Given the description of an element on the screen output the (x, y) to click on. 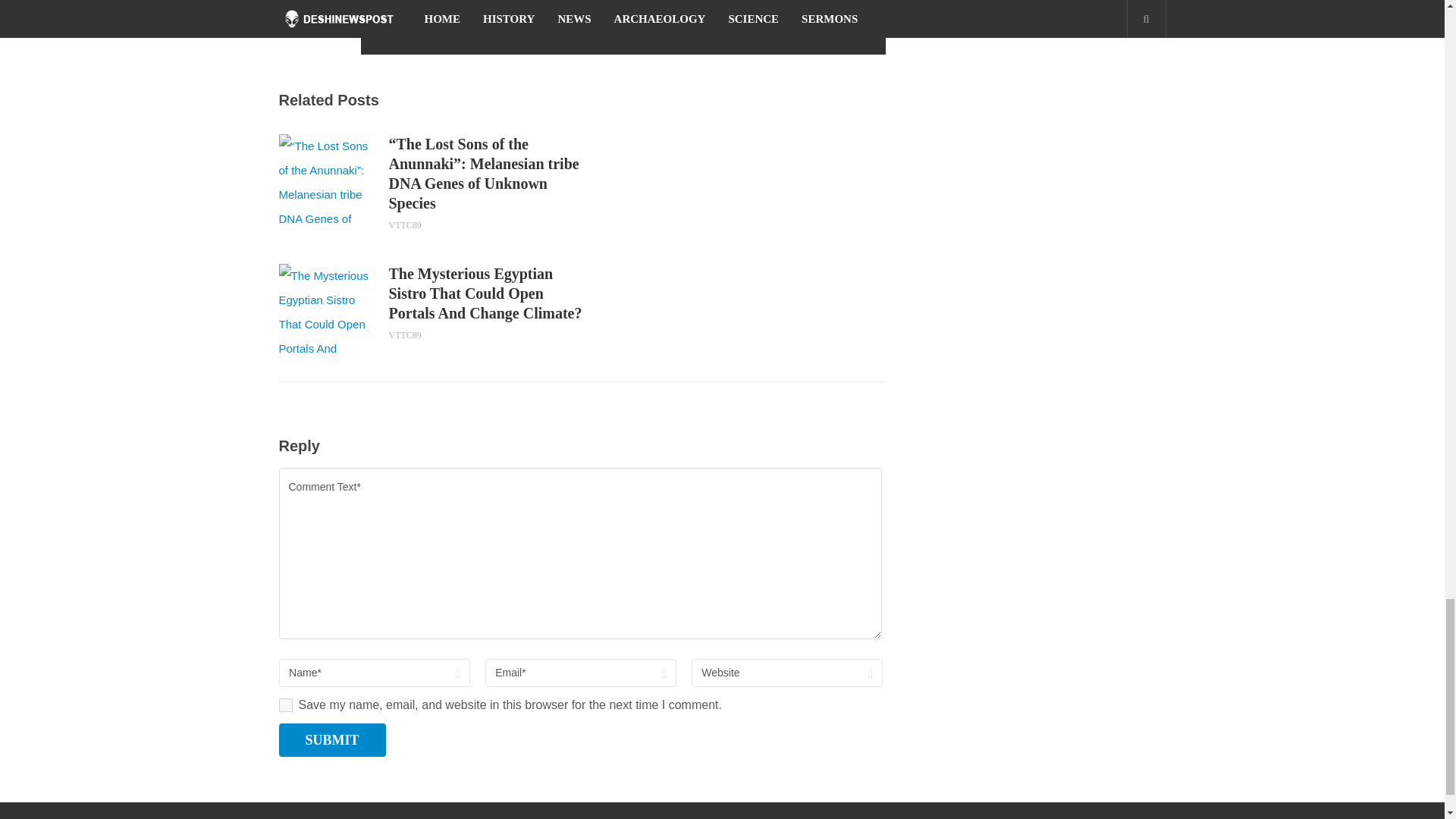
Posts by vttc89 (404, 225)
Submit (332, 739)
VTTC89 (761, 27)
Submit (332, 739)
VTTC89 (404, 335)
Posts by vttc89 (761, 27)
VTTC89 (404, 225)
